Given the description of an element on the screen output the (x, y) to click on. 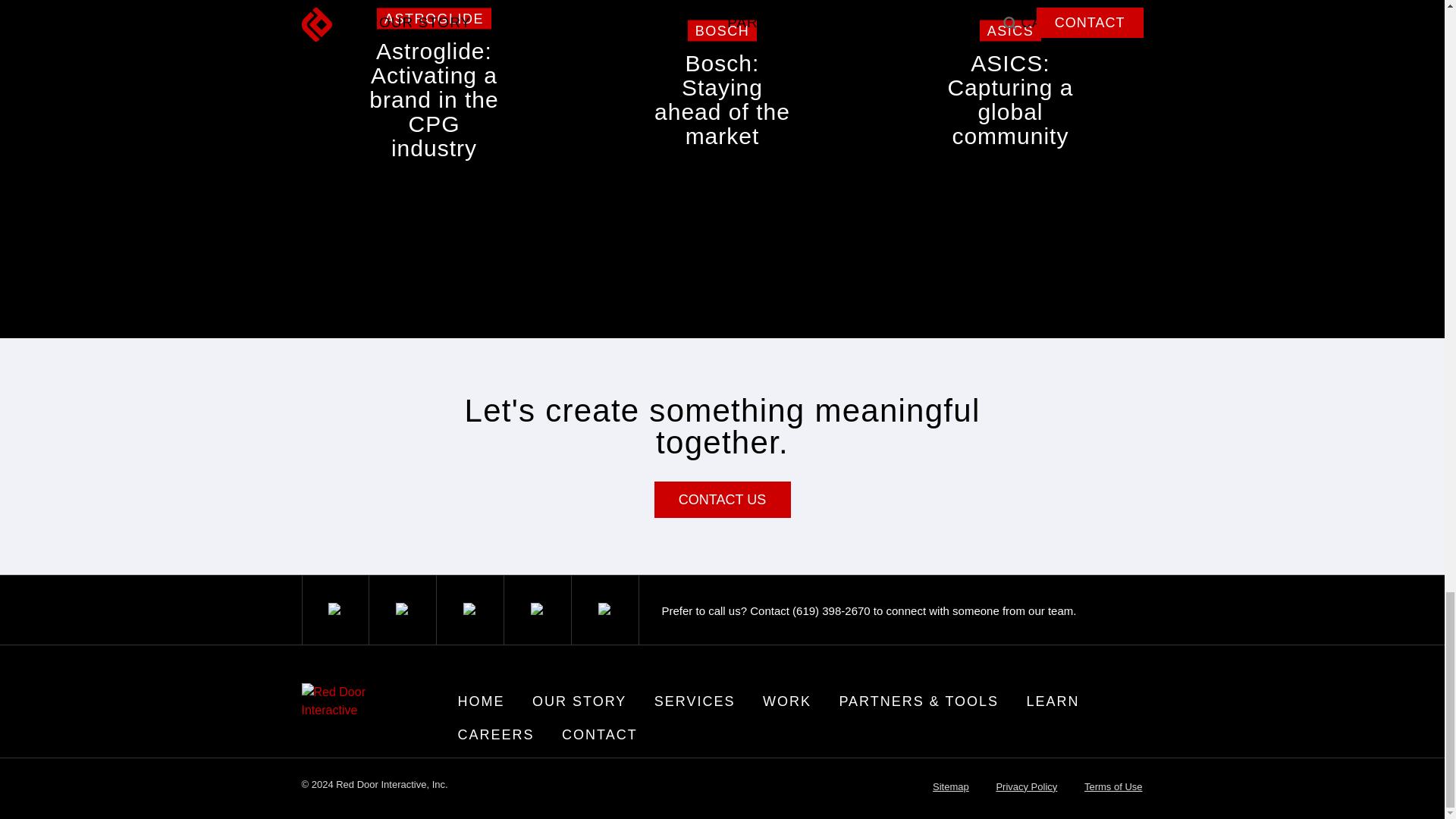
OUR STORY (579, 701)
WORK (787, 701)
HOME (480, 701)
SERVICES (1010, 116)
CONTACT US (695, 701)
